Given the description of an element on the screen output the (x, y) to click on. 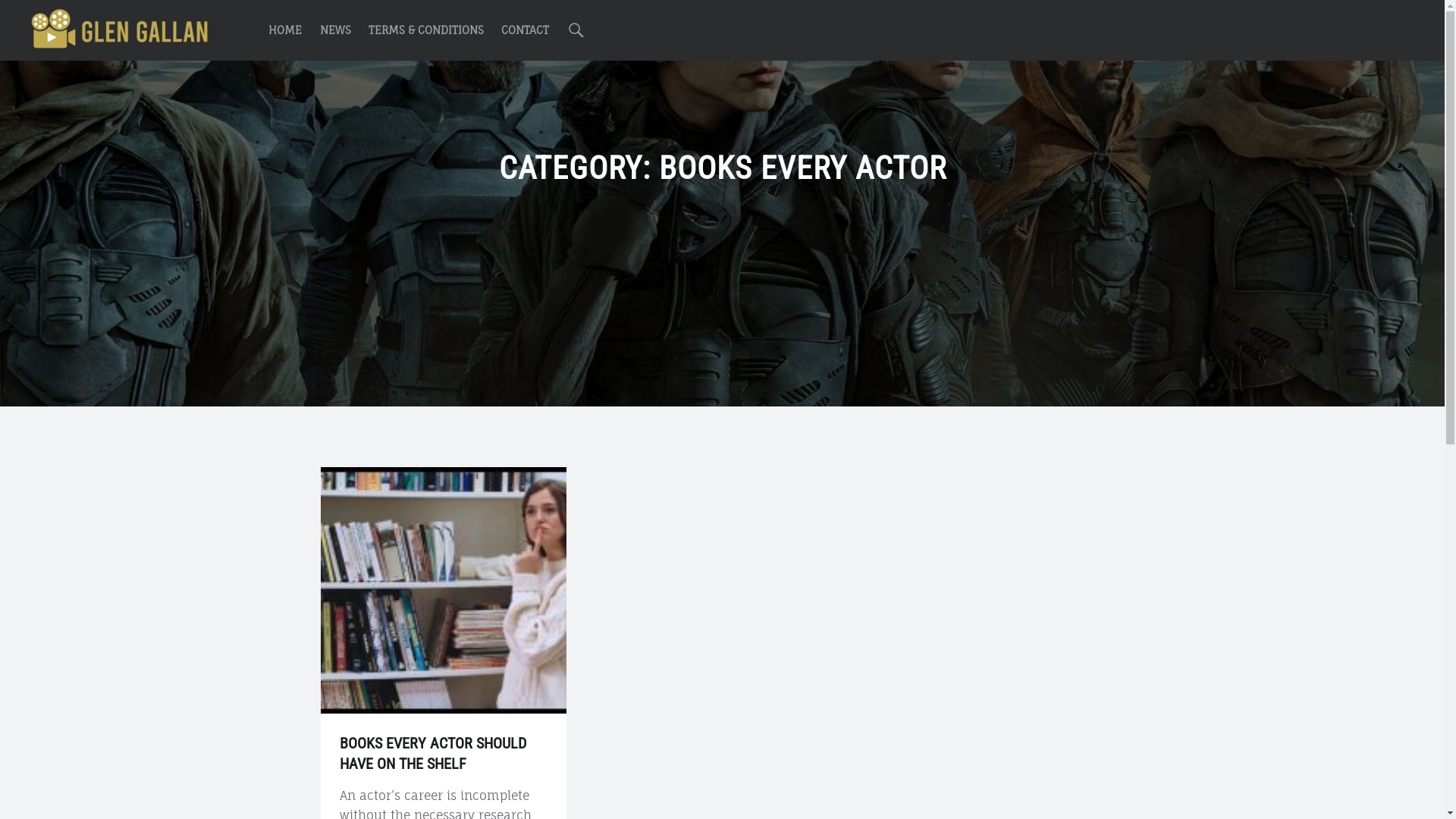
CONTACT Element type: text (525, 30)
NEWS Element type: text (335, 30)
GLEN GALLAN Element type: text (120, 29)
Search Element type: text (576, 30)
Books Every Actor Should Have on the Shelf Element type: hover (442, 475)
BOOKS EVERY ACTOR SHOULD HAVE ON THE SHELF Element type: text (432, 752)
TERMS & CONDITIONS Element type: text (425, 30)
Glen Gallan | The best acting is instinctive. Element type: hover (120, 29)
HOME Element type: text (284, 30)
